Given the description of an element on the screen output the (x, y) to click on. 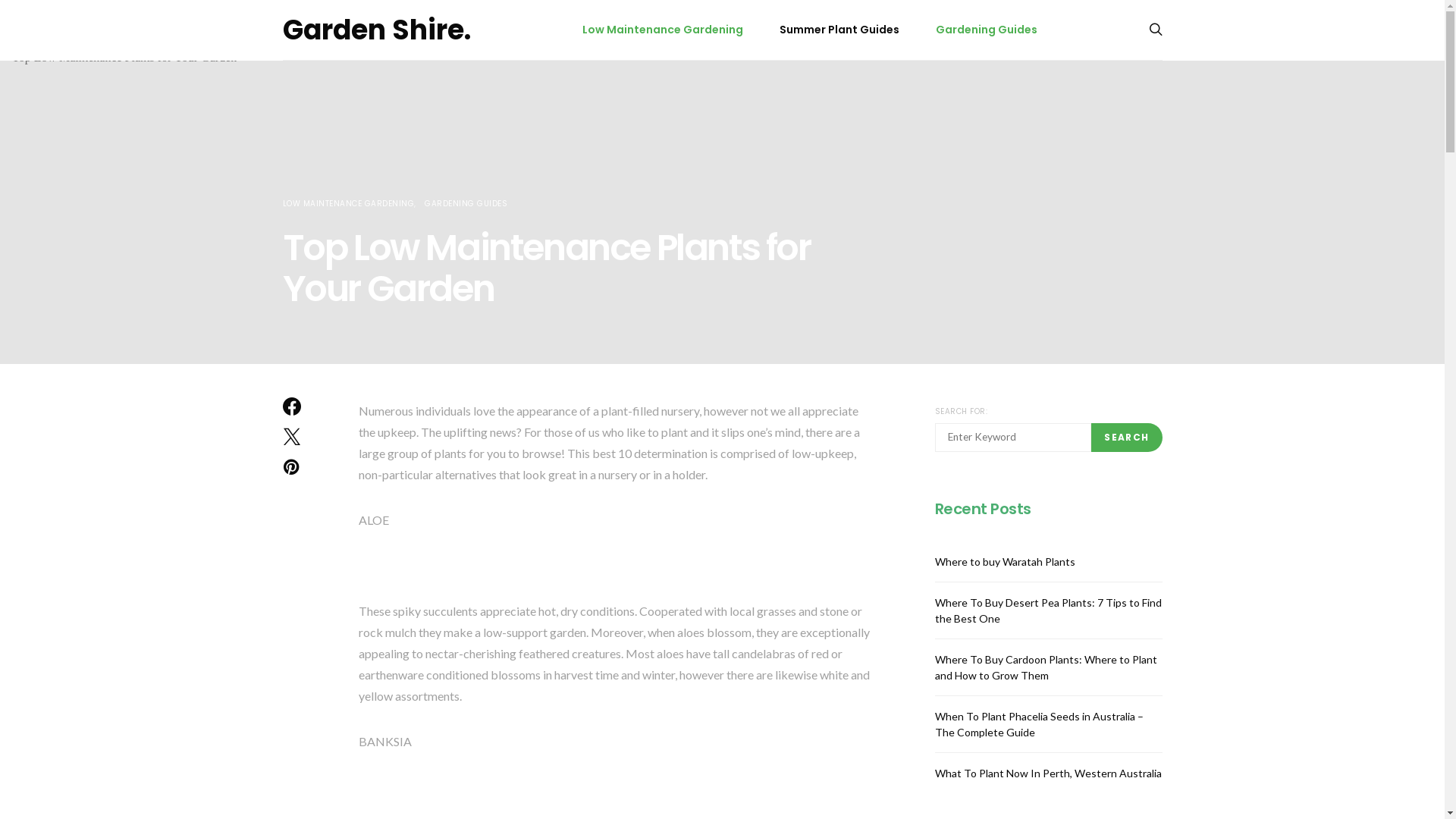
Gardening Guides Element type: text (986, 29)
Where To Buy Desert Pea Plants: 7 Tips to Find the Best One Element type: text (1047, 610)
Low Maintenance Gardening Element type: text (662, 29)
Garden Shire. Element type: text (376, 30)
Where to buy Waratah Plants Element type: text (1004, 561)
LOW MAINTENANCE GARDENING Element type: text (348, 203)
Summer Plant Guides Element type: text (839, 29)
What To Plant Now In Perth, Western Australia Element type: text (1047, 773)
GARDENING GUIDES Element type: text (465, 203)
SEARCH Element type: text (1126, 437)
